Given the description of an element on the screen output the (x, y) to click on. 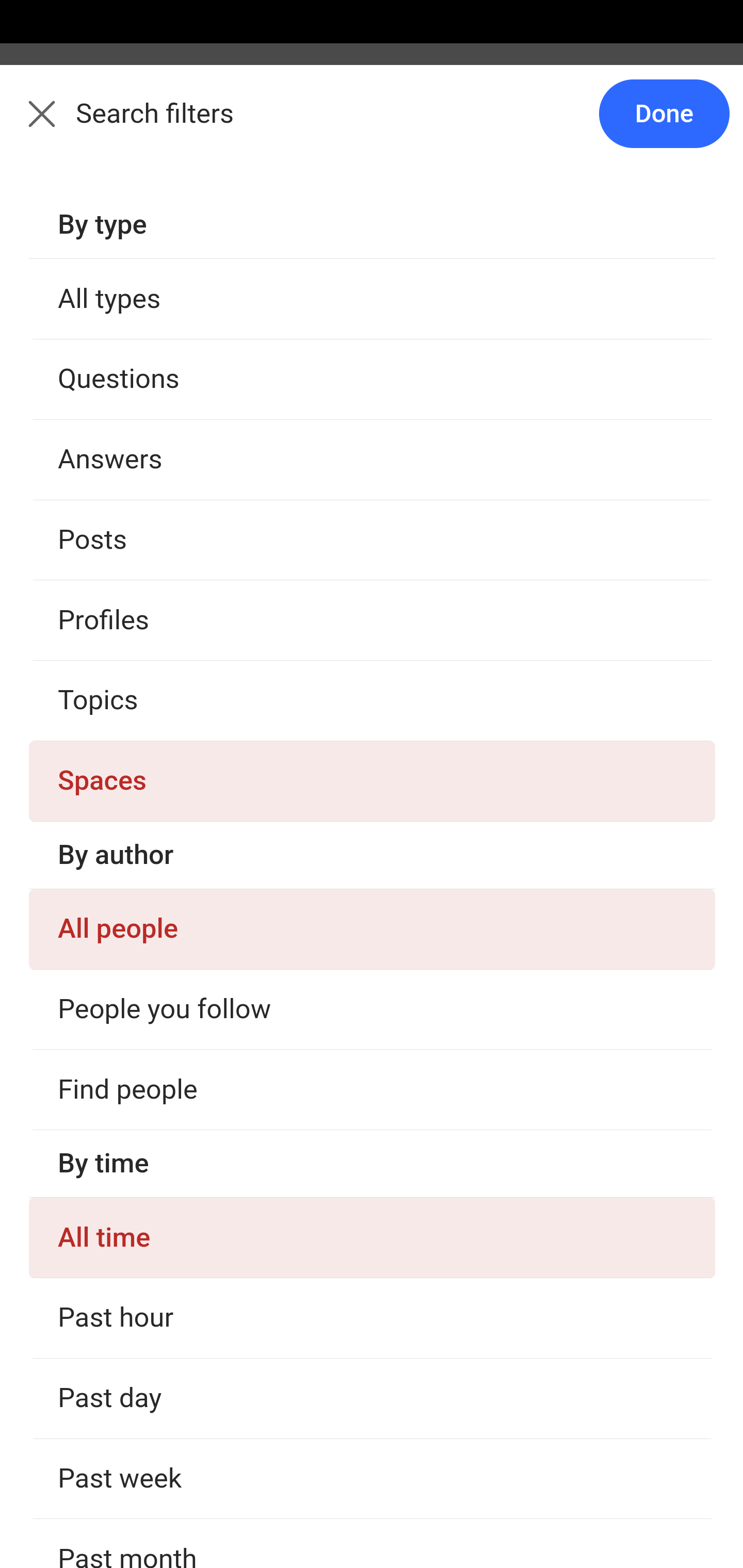
Back Search (371, 125)
Answer (125, 387)
Answer (125, 784)
Answer (125, 1179)
Answer (125, 1378)
